Given the description of an element on the screen output the (x, y) to click on. 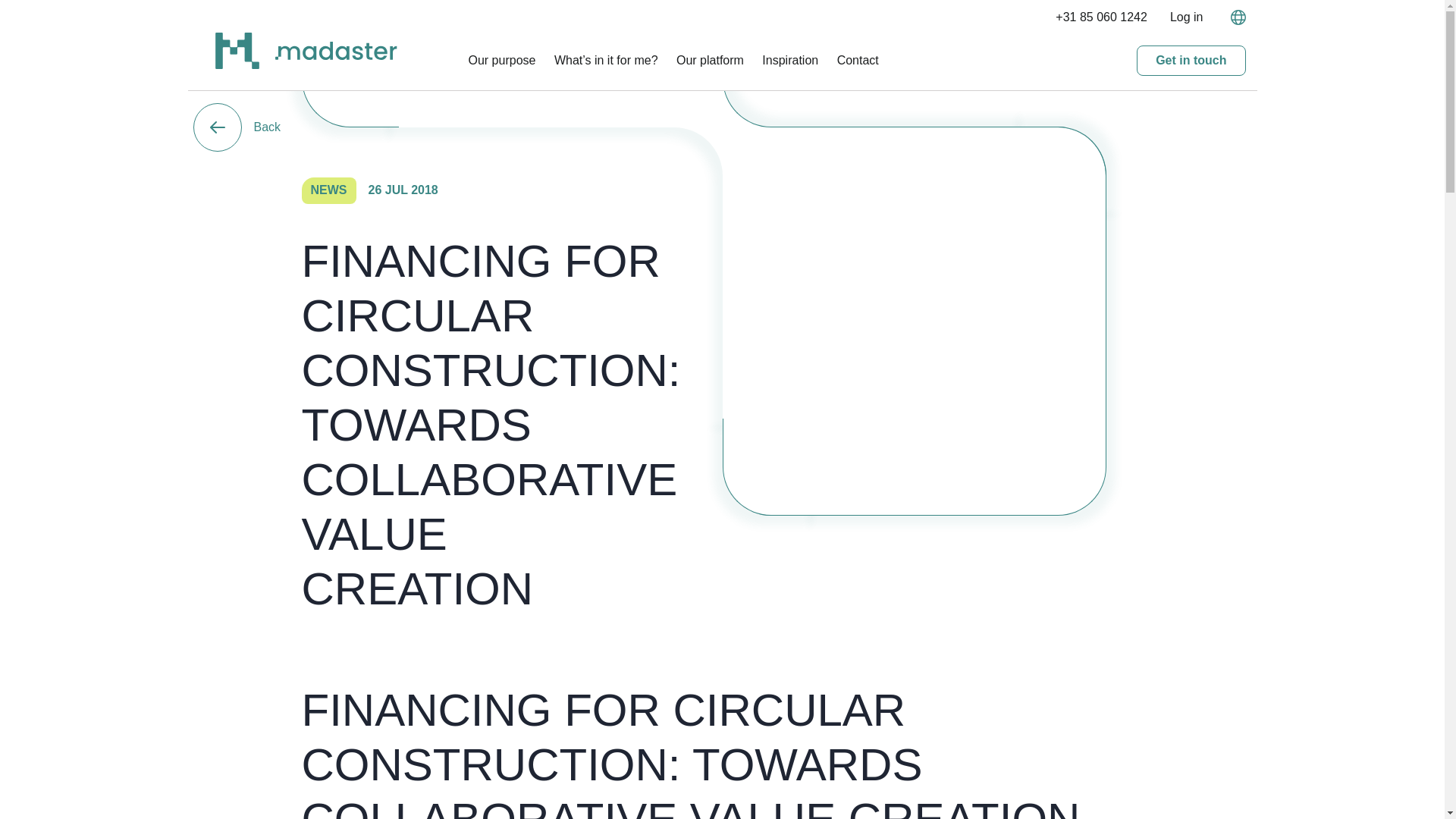
Get in touch (1190, 60)
Inspiration (789, 60)
Contact (858, 60)
Get in touch (1190, 60)
Madaster Global (335, 55)
Our purpose (501, 60)
Choose your country and language (1232, 17)
Log in (1187, 16)
Call us (1101, 16)
Back (236, 127)
